Given the description of an element on the screen output the (x, y) to click on. 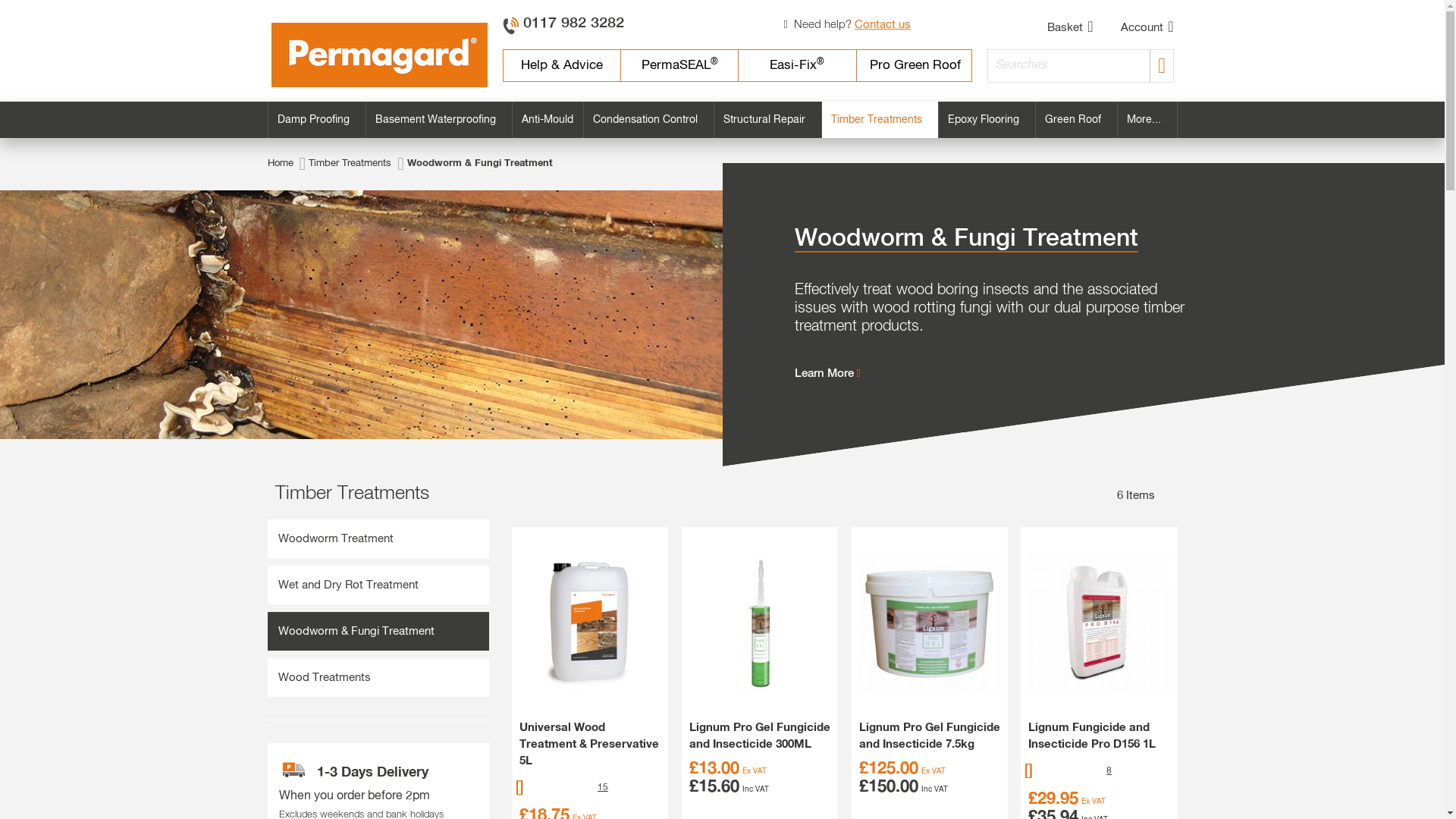
Home (279, 163)
Basement Waterproofing (438, 119)
Timber Treatments (349, 163)
0117 982 3282 (571, 23)
Permagard Products Ltd (378, 54)
Basket (1053, 27)
Pro Green Roof (915, 65)
Contact us (882, 24)
Damp Proofing (316, 119)
